Given the description of an element on the screen output the (x, y) to click on. 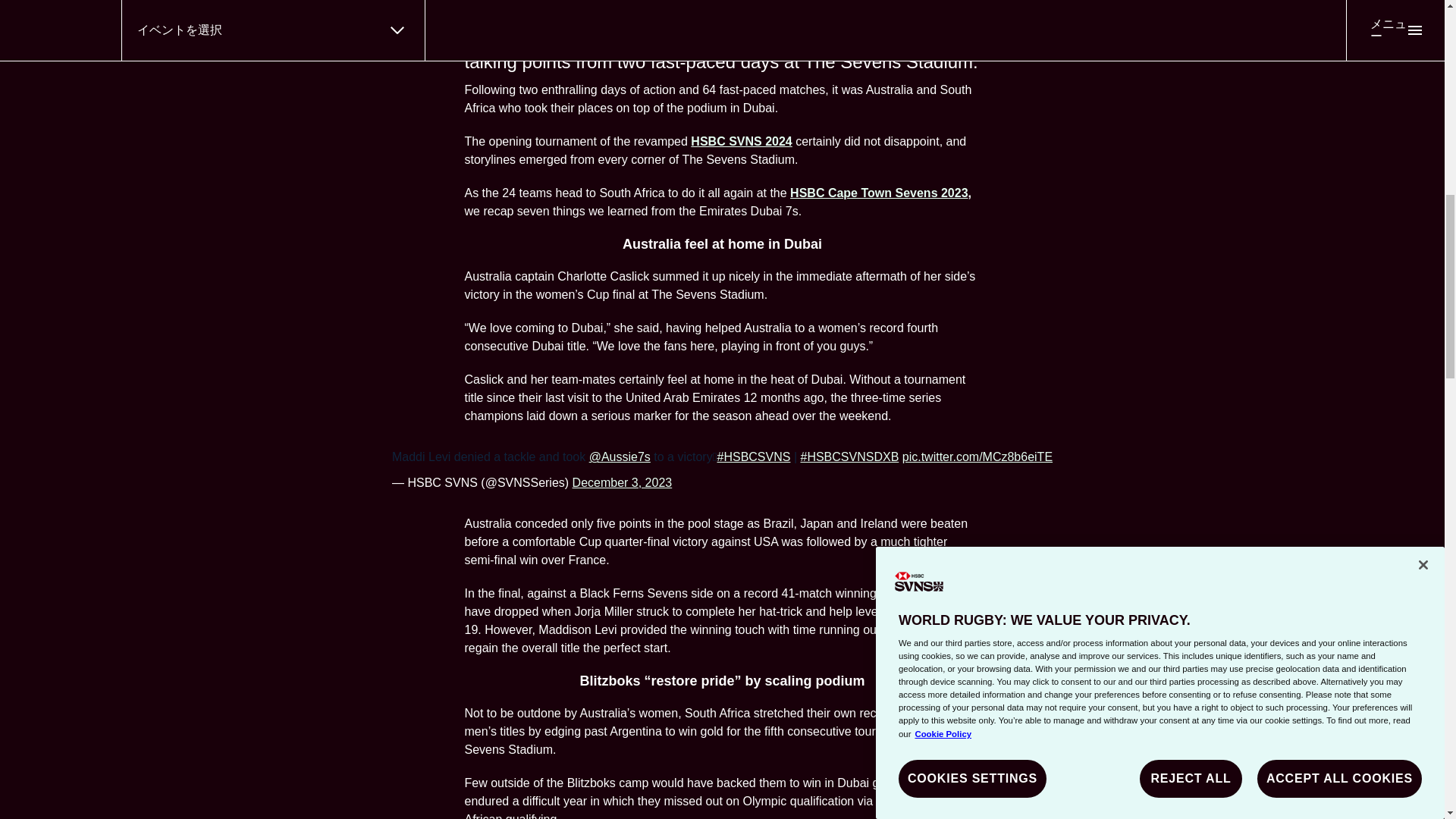
HSBC SVNS 2024 (741, 141)
Embedded Tweet (721, 469)
HSBC Cape Town Sevens 2023 (879, 192)
December 3, 2023 (622, 481)
